Given the description of an element on the screen output the (x, y) to click on. 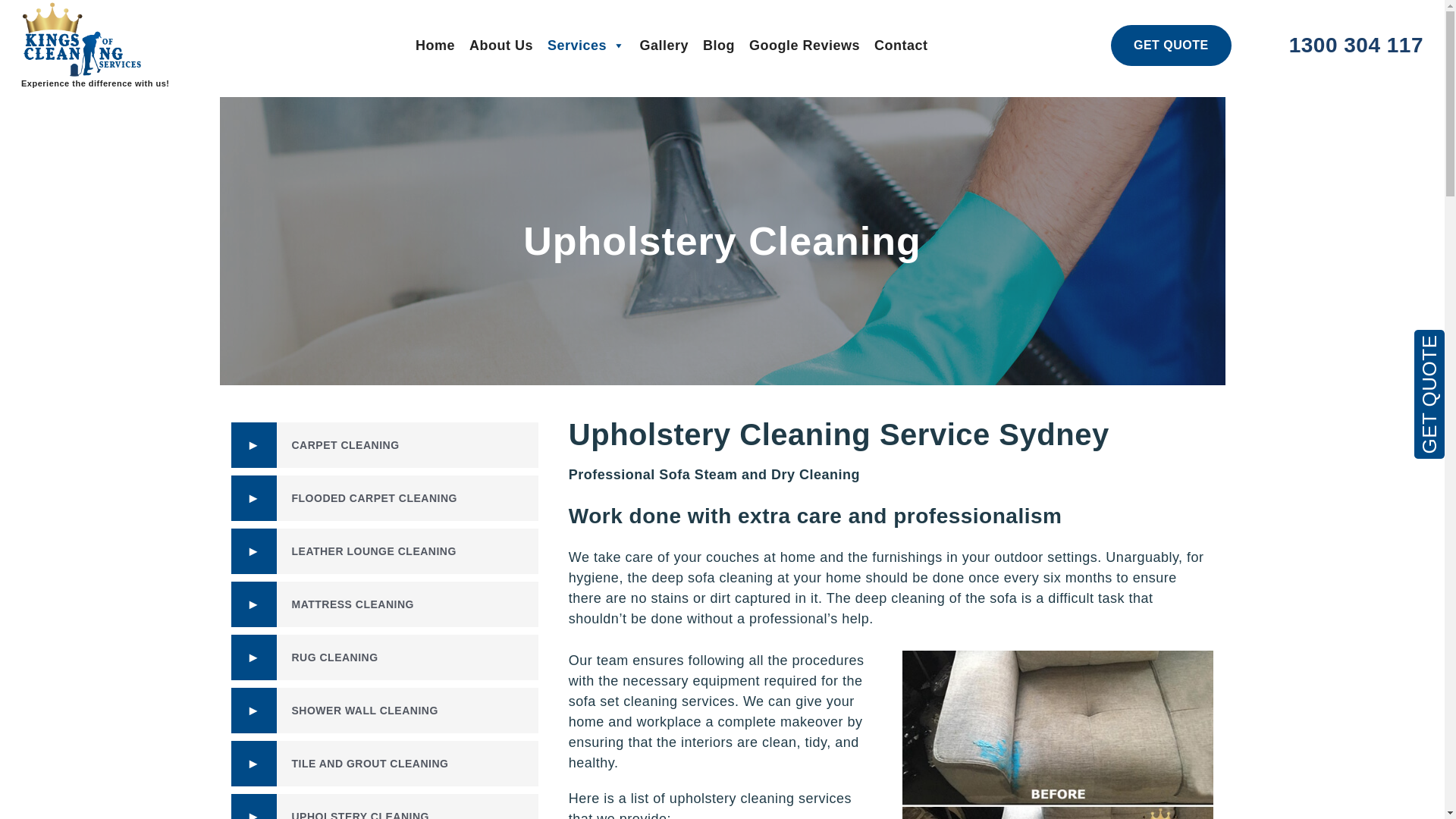
Experience the difference with us! Element type: text (95, 45)
Services Element type: text (586, 45)
TILE AND GROUT CLEANING Element type: text (383, 763)
CARPET CLEANING Element type: text (383, 444)
Blog Element type: text (718, 45)
LEATHER LOUNGE CLEANING Element type: text (383, 551)
Google Reviews Element type: text (804, 45)
1300 304 117 Element type: text (1356, 44)
Home Element type: text (435, 45)
Contact Element type: text (901, 45)
Gallery Element type: text (663, 45)
SHOWER WALL CLEANING Element type: text (383, 710)
MATTRESS CLEANING Element type: text (383, 604)
About Us Element type: text (501, 45)
RUG CLEANING Element type: text (383, 657)
FLOODED CARPET CLEANING Element type: text (383, 497)
